Given the description of an element on the screen output the (x, y) to click on. 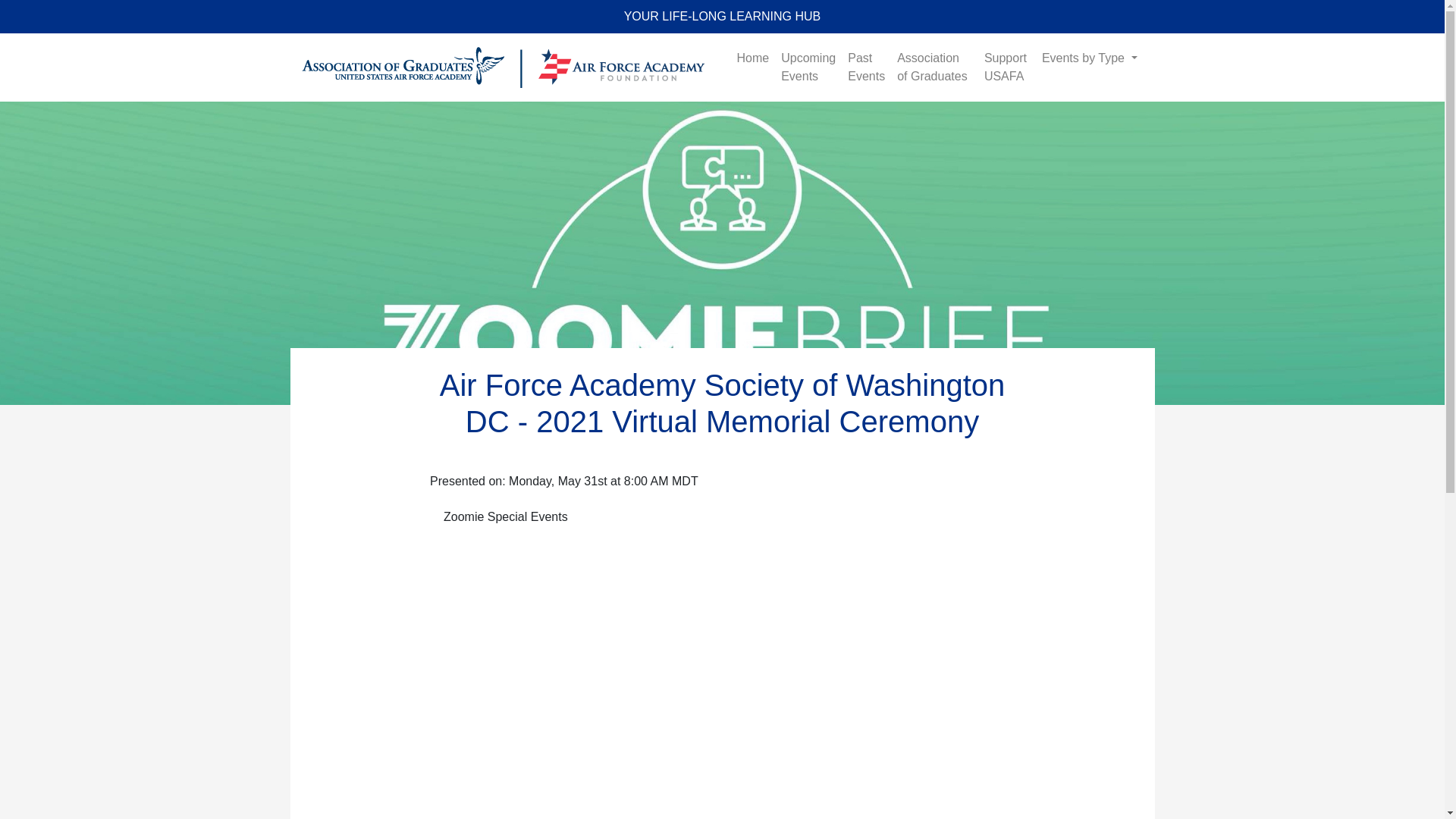
Upcoming Events (807, 67)
Support USAFA (1006, 67)
Past Events (866, 67)
Events by Type (1088, 58)
Zoomie Special Events (505, 516)
Association of Graduates (934, 67)
